Given the description of an element on the screen output the (x, y) to click on. 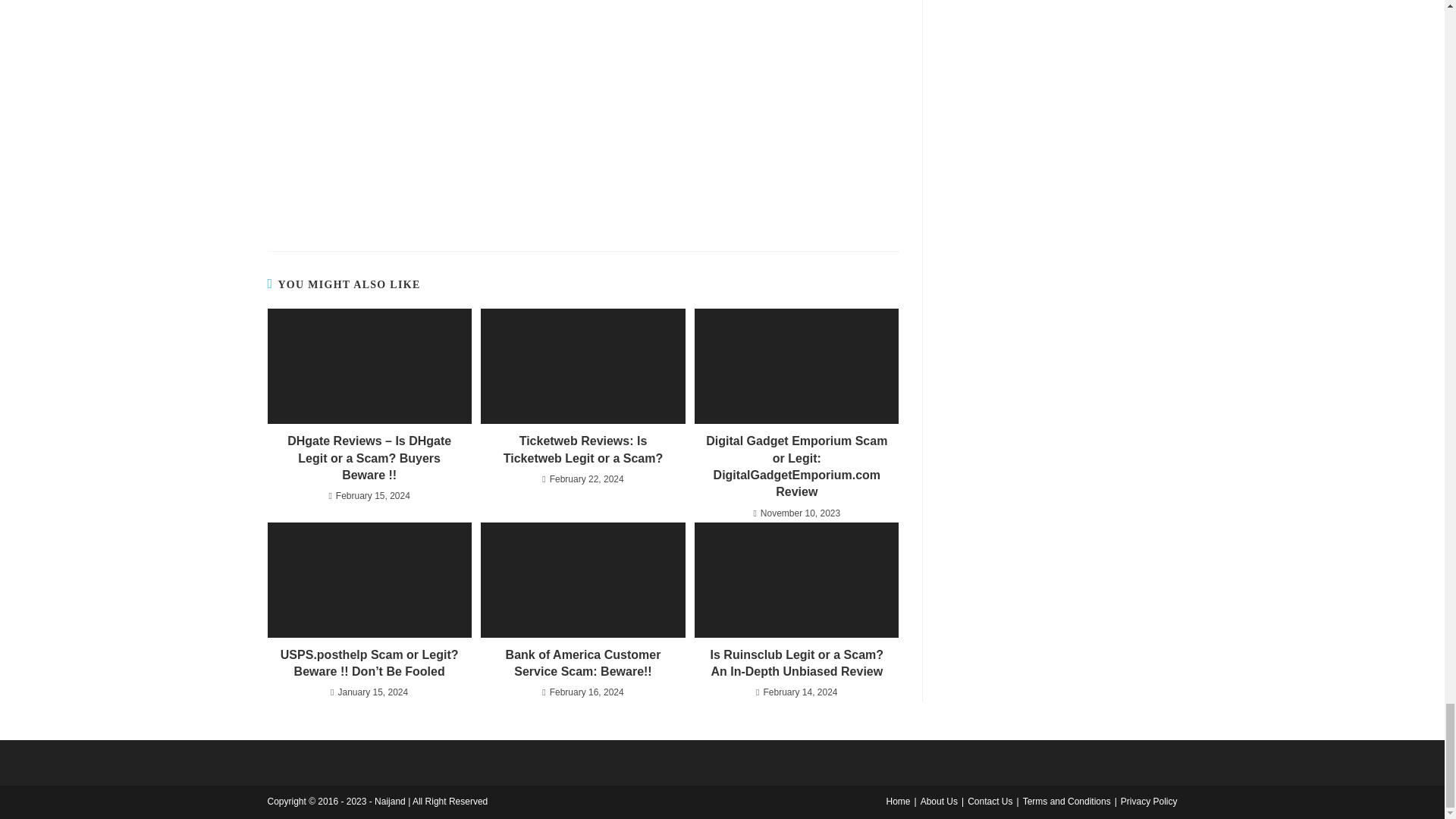
Bank of America Customer Service Scam: Beware!! (582, 663)
Bank of America Customer Service Scam: Beware!! 5 (582, 580)
Is Ruinsclub Legit or a Scam? An In-Depth Unbiased Review 6 (796, 580)
Ticketweb Reviews: Is Ticketweb Legit or a Scam? (582, 449)
Ticketweb Reviews: Is Ticketweb Legit or a Scam? 2 (582, 366)
